Given the description of an element on the screen output the (x, y) to click on. 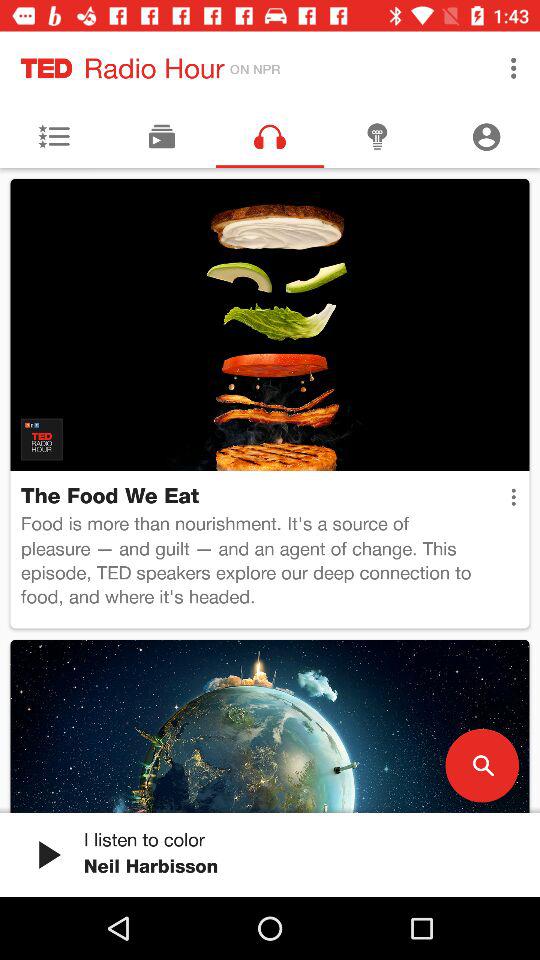
choose the item below food is more icon (482, 765)
